Given the description of an element on the screen output the (x, y) to click on. 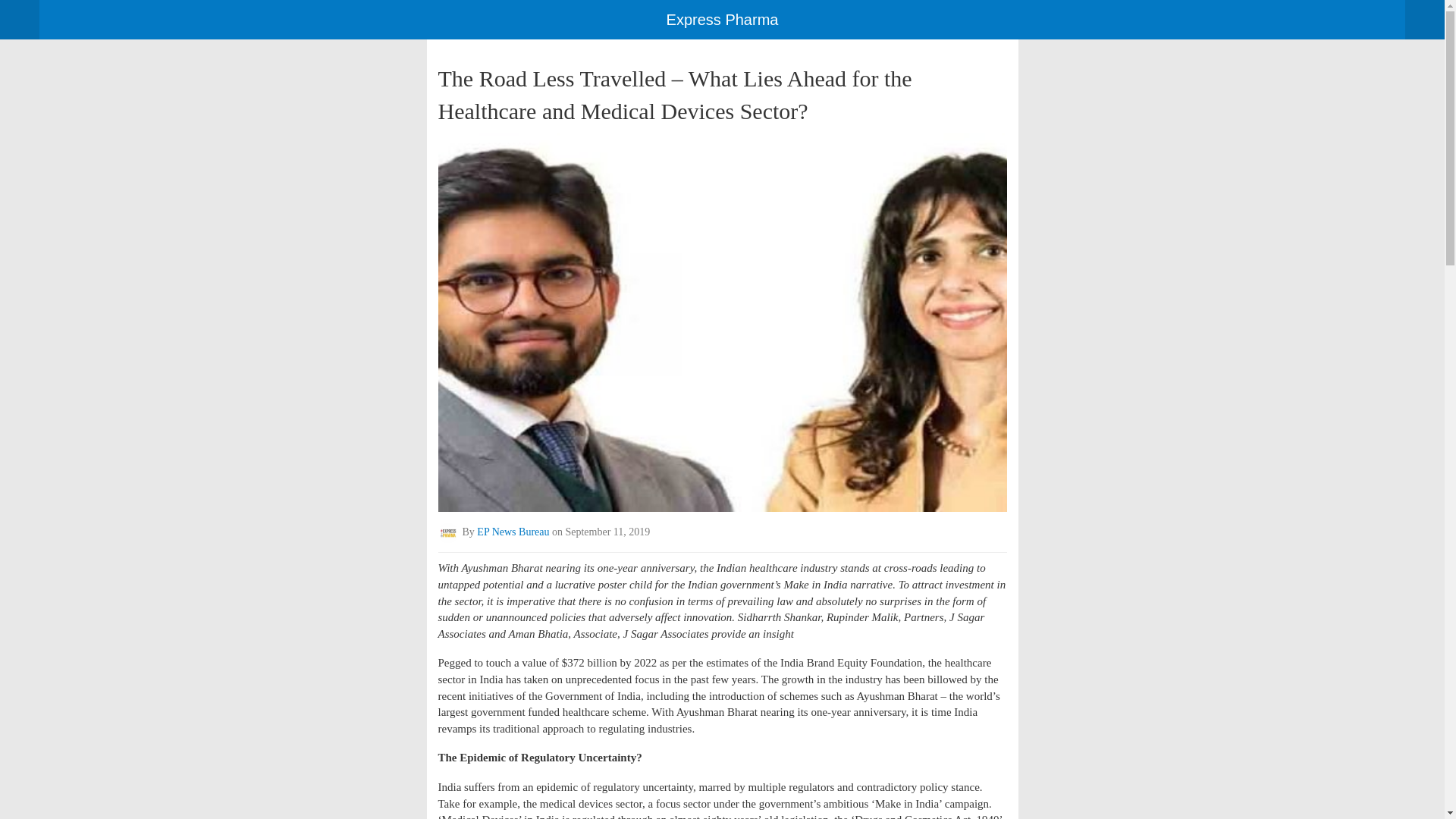
EP News Bureau (512, 532)
